Given the description of an element on the screen output the (x, y) to click on. 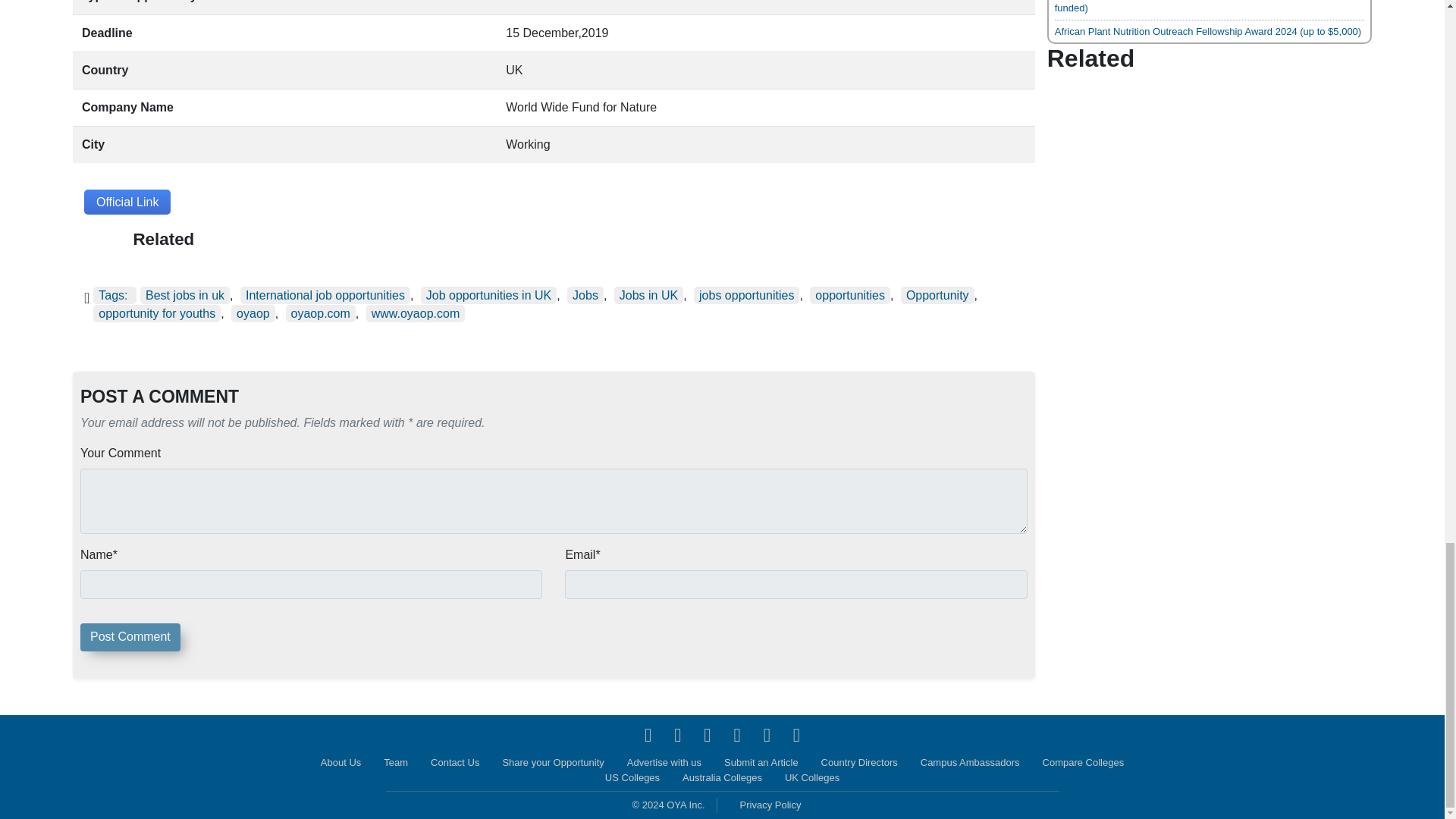
Post Comment (130, 637)
